Given the description of an element on the screen output the (x, y) to click on. 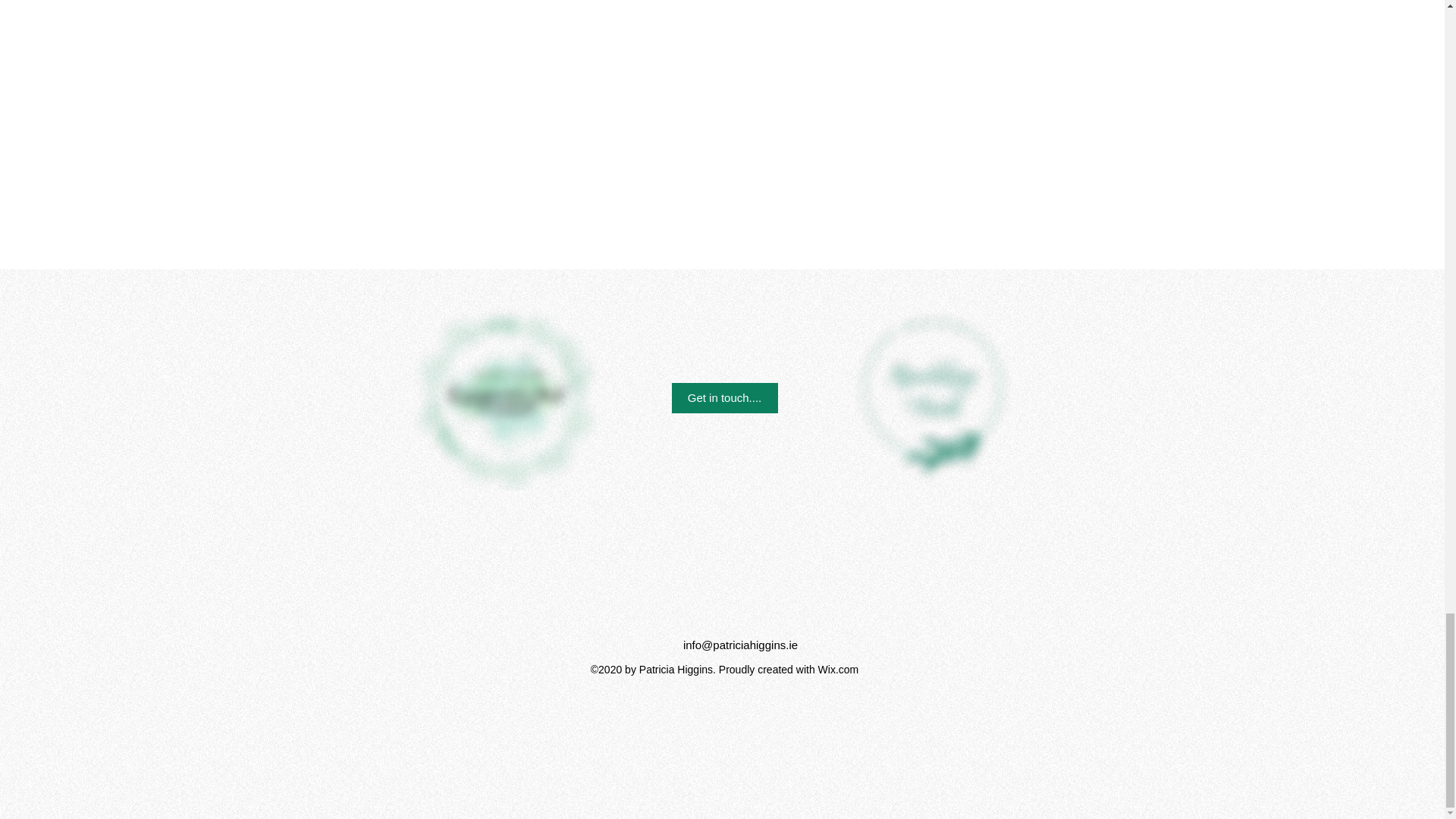
Transparent Logo.png (932, 387)
